Given the description of an element on the screen output the (x, y) to click on. 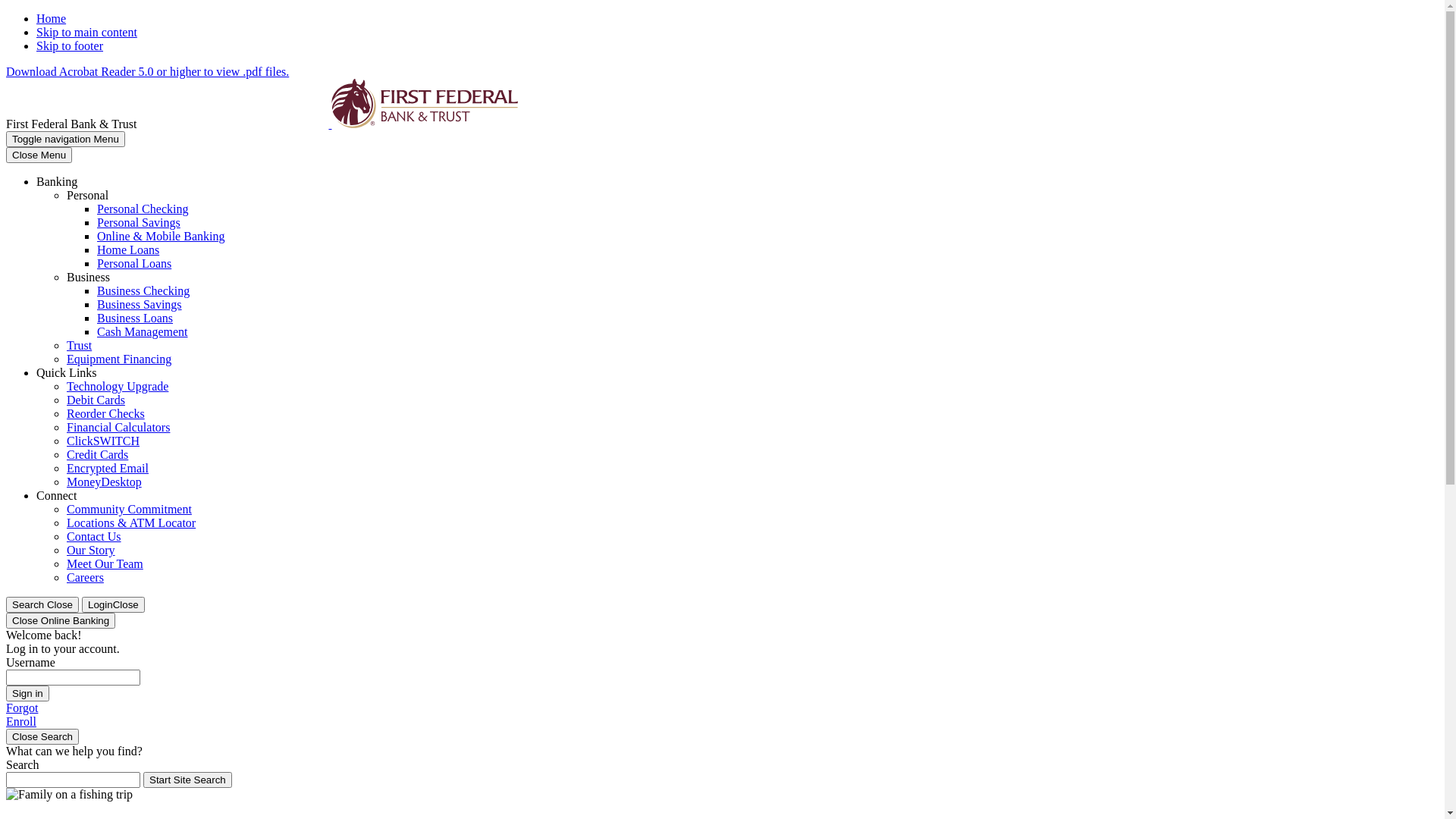
Online & Mobile Banking Element type: text (160, 235)
MoneyDesktop Element type: text (103, 481)
Credit Cards Element type: text (97, 454)
Start Site Search Element type: text (187, 779)
Equipment Financing Element type: text (118, 358)
Close Menu Element type: text (39, 155)
Sign in Element type: text (27, 693)
Locations & ATM Locator Element type: text (130, 522)
First Federal Bank & Trust, Sheridan, WY Element type: hover (329, 123)
Our Story Element type: text (90, 549)
Reorder Checks Element type: text (105, 413)
Technology Upgrade Element type: text (117, 385)
Personal Checking Element type: text (142, 208)
Community Commitment Element type: text (128, 508)
Forgot Element type: text (21, 707)
Close Search Element type: text (42, 736)
Careers Element type: text (84, 577)
Financial Calculators Element type: text (117, 426)
Business Checking Element type: text (143, 290)
Download Acrobat Reader 5.0 or higher to view .pdf files. Element type: text (147, 71)
Enroll Element type: text (21, 721)
Contact Us Element type: text (93, 536)
Toggle navigation Menu Element type: text (65, 139)
Home Element type: text (50, 18)
Trust Element type: text (78, 344)
Personal Savings Element type: text (138, 222)
LoginClose Element type: text (112, 604)
Business Loans Element type: text (134, 317)
Meet Our Team Element type: text (104, 563)
Business Savings Element type: text (139, 304)
Skip to footer Element type: text (69, 45)
Search Close Element type: text (42, 604)
Encrypted Email Element type: text (107, 467)
ClickSWITCH Element type: text (102, 440)
Close Online Banking Element type: text (60, 620)
Personal Loans Element type: text (134, 263)
Home Loans Element type: text (128, 249)
Cash Management Element type: text (142, 331)
Skip to main content Element type: text (86, 31)
Debit Cards Element type: text (95, 399)
